Given the description of an element on the screen output the (x, y) to click on. 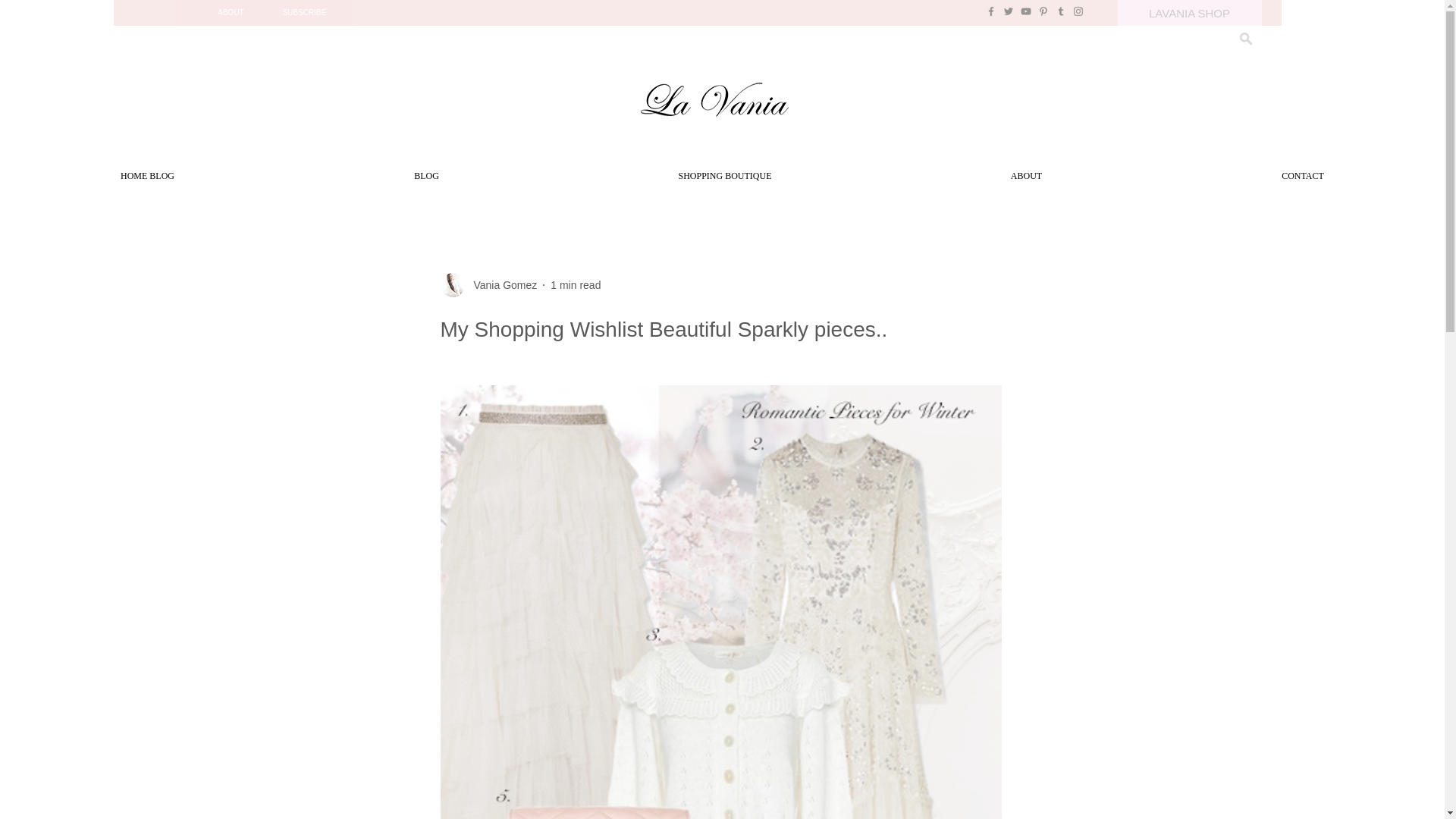
BLOG (426, 176)
LAVANIA SHOP (1190, 12)
CONTACT (1302, 176)
Vania Gomez (488, 284)
SUBSCRIBE (304, 12)
ABOUT (231, 12)
Vania Gomez (500, 285)
HOME BLOG (147, 176)
1 min read (574, 285)
SHOPPING BOUTIQUE (725, 176)
ABOUT (1026, 176)
